Given the description of an element on the screen output the (x, y) to click on. 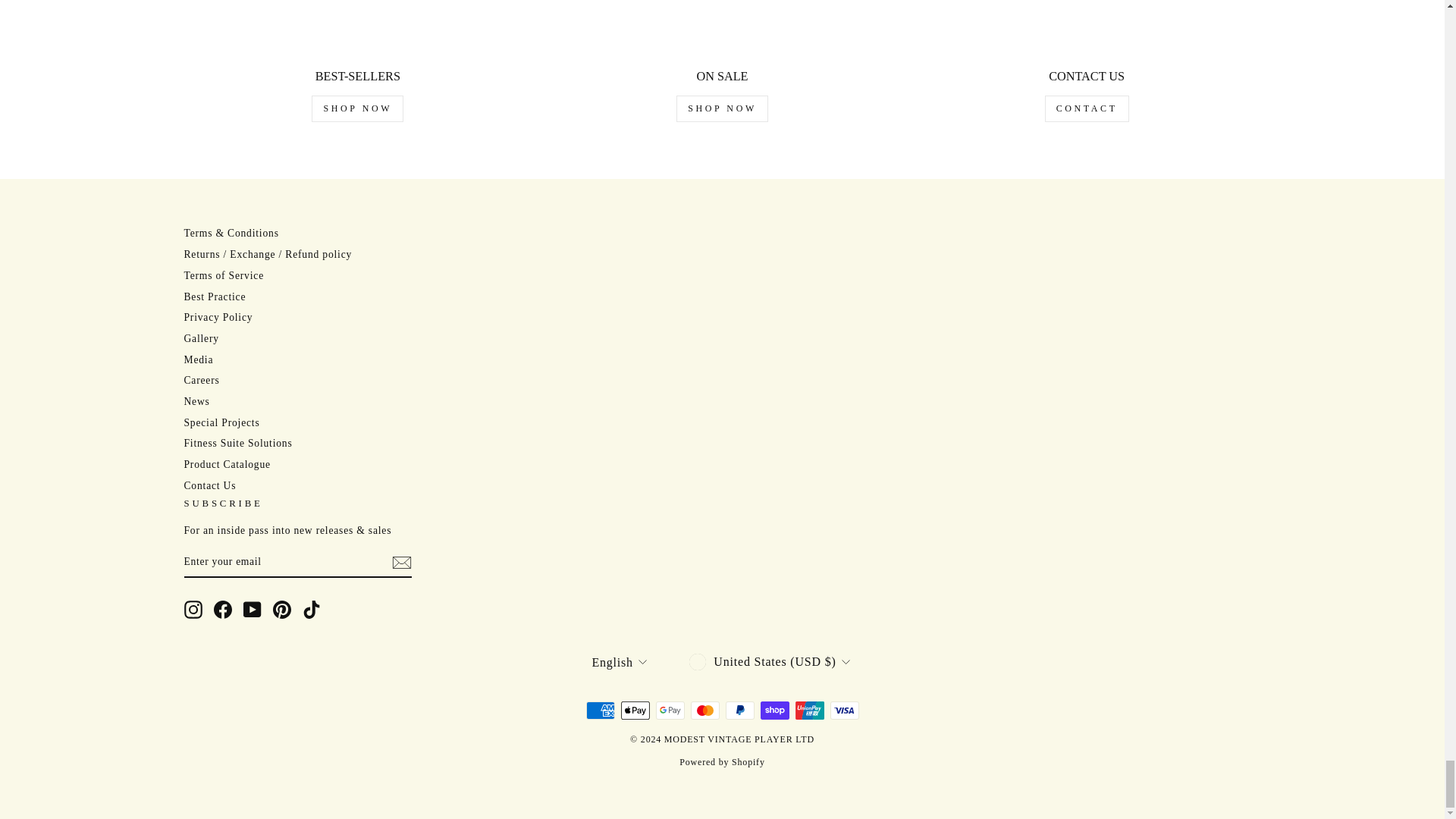
MODEST VINTAGE PLAYER LTD on Instagram (192, 609)
MODEST VINTAGE PLAYER LTD on Facebook (222, 609)
MODEST VINTAGE PLAYER LTD on TikTok (310, 609)
MODEST VINTAGE PLAYER LTD on YouTube (251, 609)
instagram (192, 609)
icon-email (400, 562)
MODEST VINTAGE PLAYER LTD on Pinterest (282, 609)
